Given the description of an element on the screen output the (x, y) to click on. 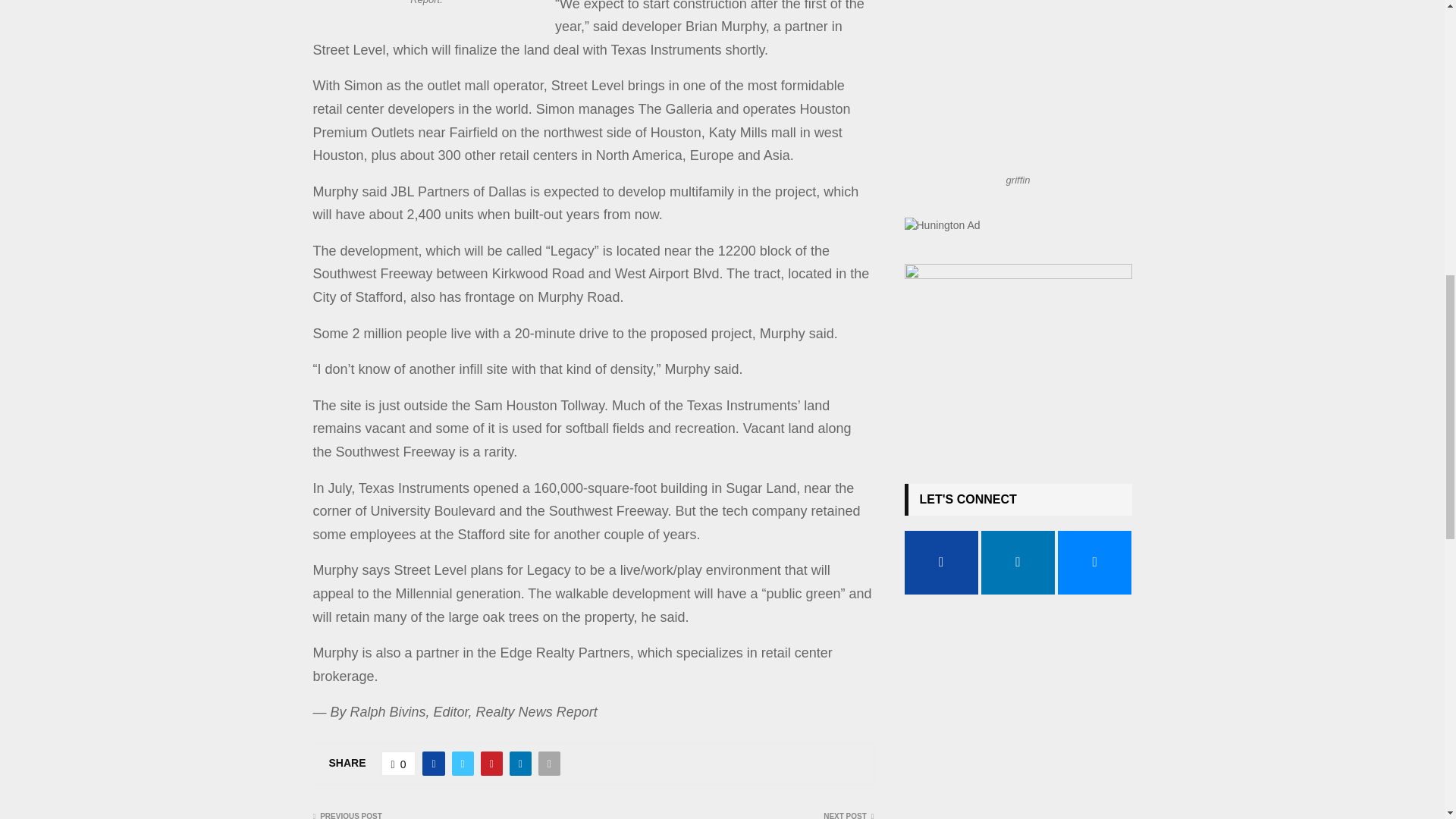
Like (398, 763)
